Given the description of an element on the screen output the (x, y) to click on. 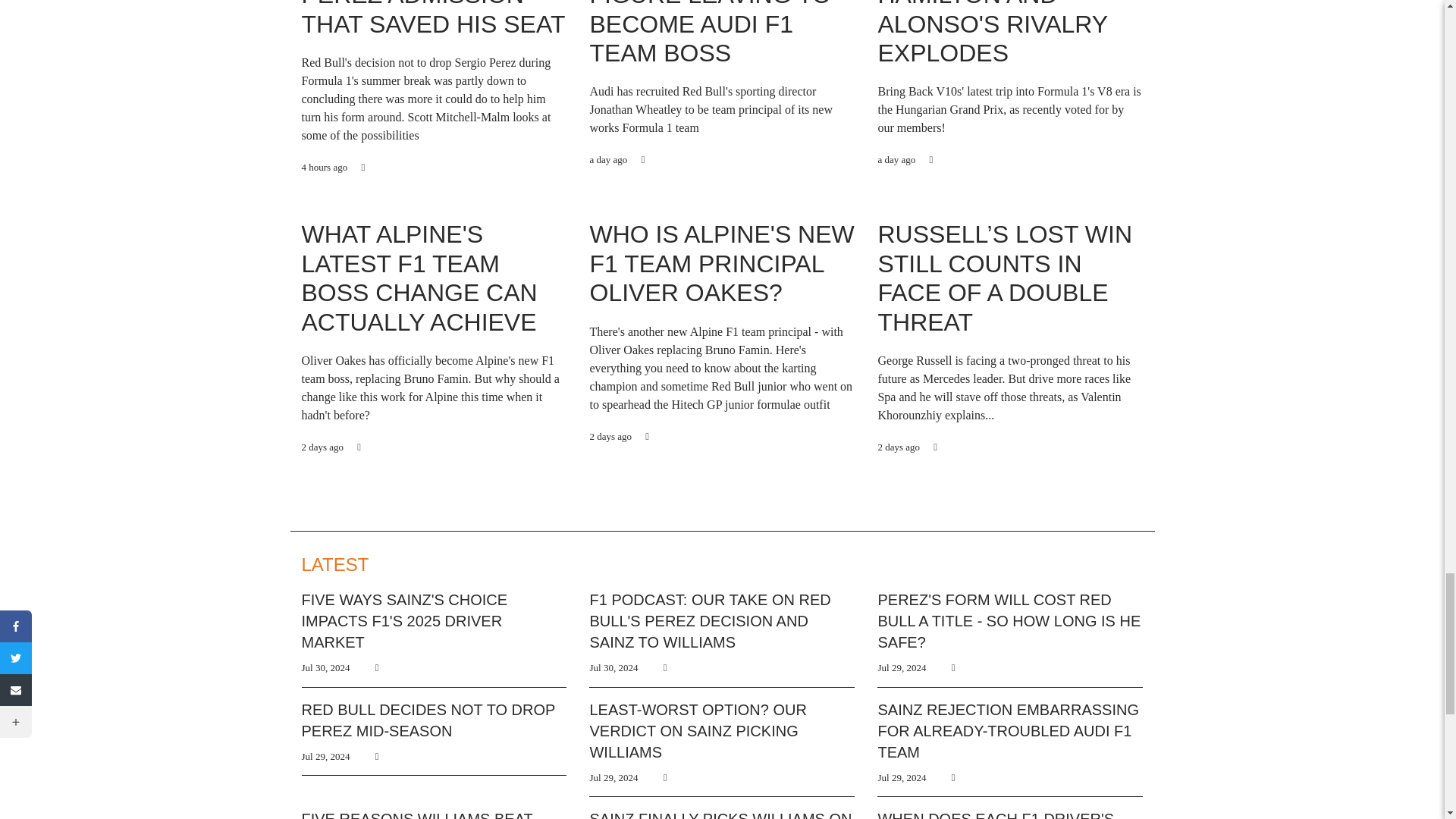
RED BULL'S UNUSUAL PEREZ ADMISSION THAT SAVED HIS SEAT (433, 18)
KEY RED BULL FIGURE LEAVING TO BECOME AUDI F1 TEAM BOSS (709, 33)
